Given the description of an element on the screen output the (x, y) to click on. 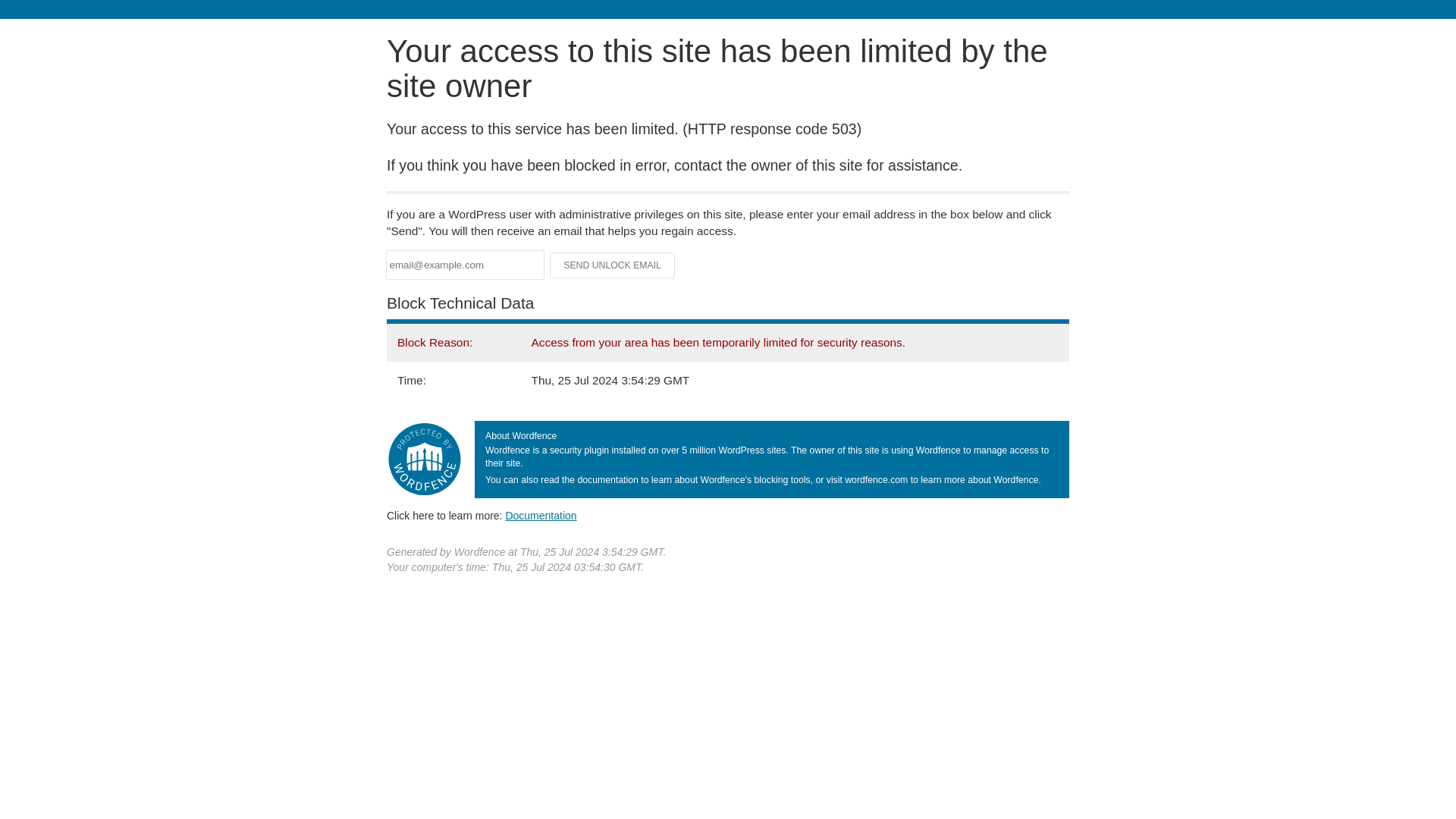
Send Unlock Email (612, 265)
Send Unlock Email (612, 265)
Documentation (540, 515)
